Given the description of an element on the screen output the (x, y) to click on. 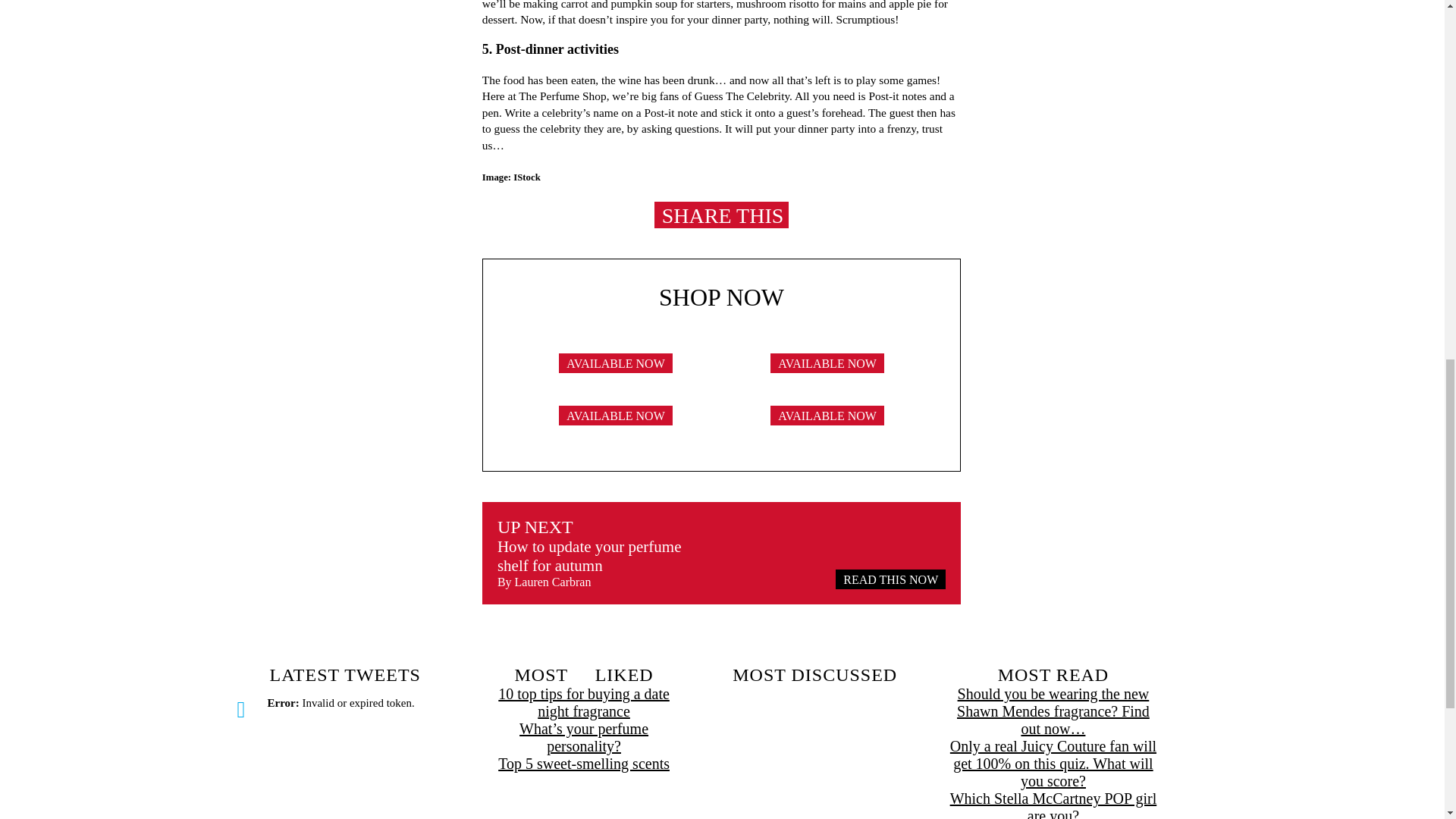
AVAILABLE NOW (827, 424)
Top 5 sweet-smelling scents (583, 764)
AVAILABLE NOW (827, 371)
AVAILABLE NOW (615, 371)
Which Stella McCartney POP girl are you? (1052, 804)
Top 5 sweet-smelling scents (583, 764)
AVAILABLE NOW (615, 424)
Which Stella McCartney POP girl are you? (1052, 804)
10 top tips for buying a date night fragrance (583, 702)
